Given the description of an element on the screen output the (x, y) to click on. 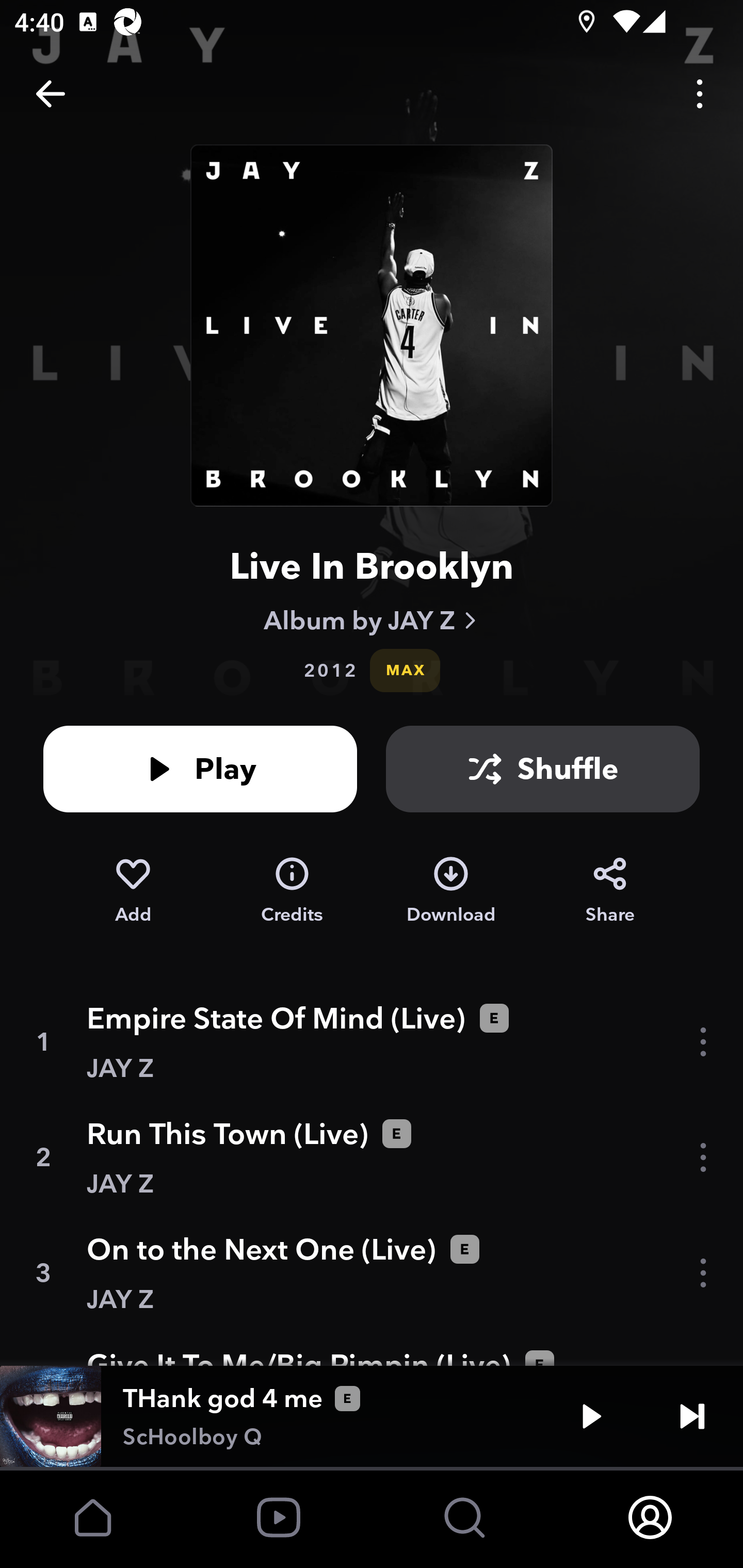
Options (699, 93)
Live In Brooklyn (371, 565)
Album by JAY Z (371, 619)
Play (200, 768)
Shuffle (542, 768)
Add to My Collection Add (132, 890)
Credits (291, 890)
Download (450, 890)
Share (609, 890)
1 Empire State Of Mind (Live) JAY Z (371, 1041)
2 Run This Town (Live) JAY Z (371, 1157)
3 On to the Next One (Live) JAY Z (371, 1273)
THank god 4 me    ScHoolboy Q Play (371, 1416)
Play (590, 1416)
